Given the description of an element on the screen output the (x, y) to click on. 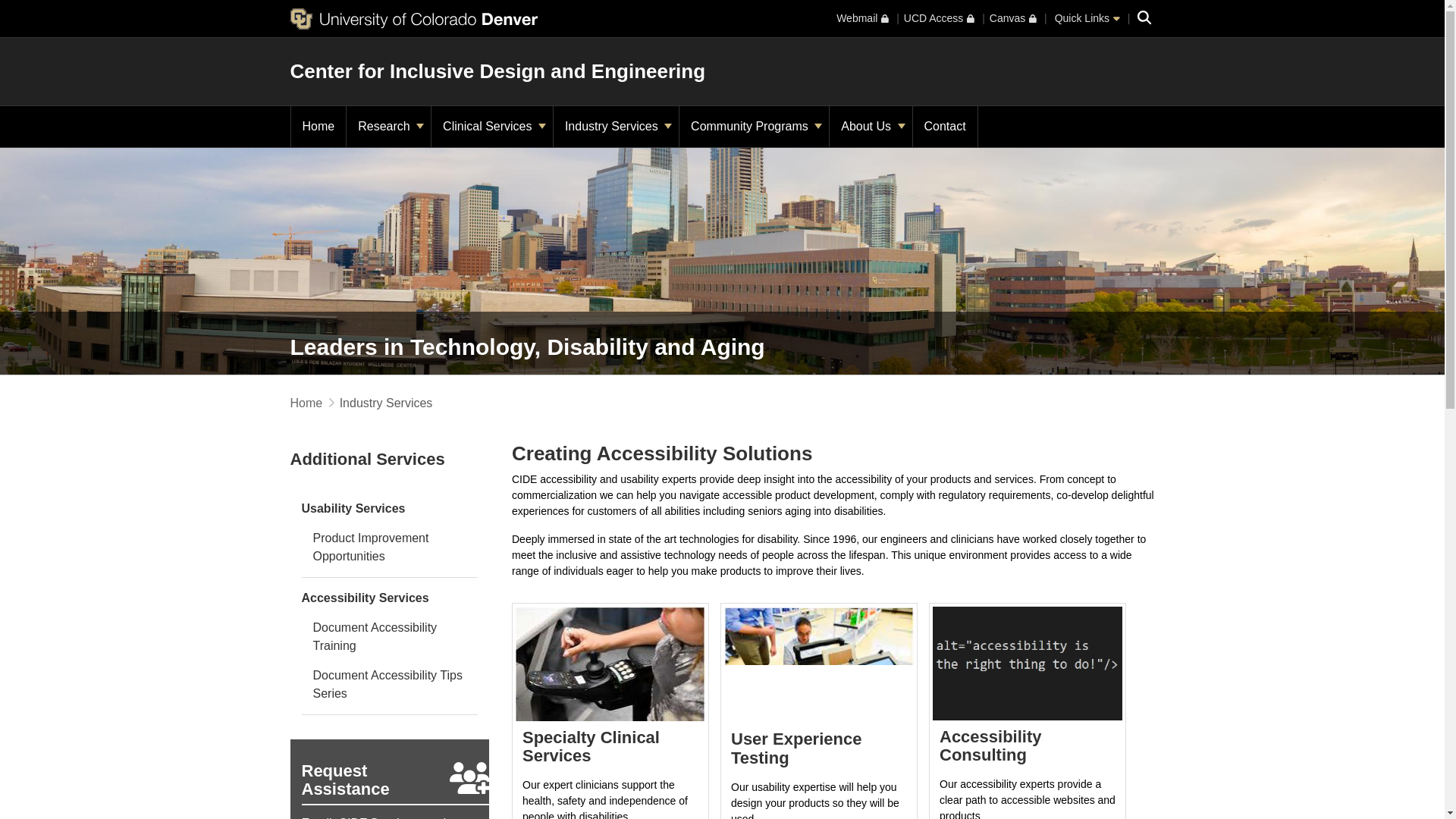
Quick Links (1086, 18)
Accessibility (1027, 662)
Webmail (861, 18)
Center for Inclusive Design and Engineering (496, 70)
Canvas (1013, 18)
UCD Access (939, 18)
joystick (609, 663)
Research (388, 126)
Home (318, 126)
